Given the description of an element on the screen output the (x, y) to click on. 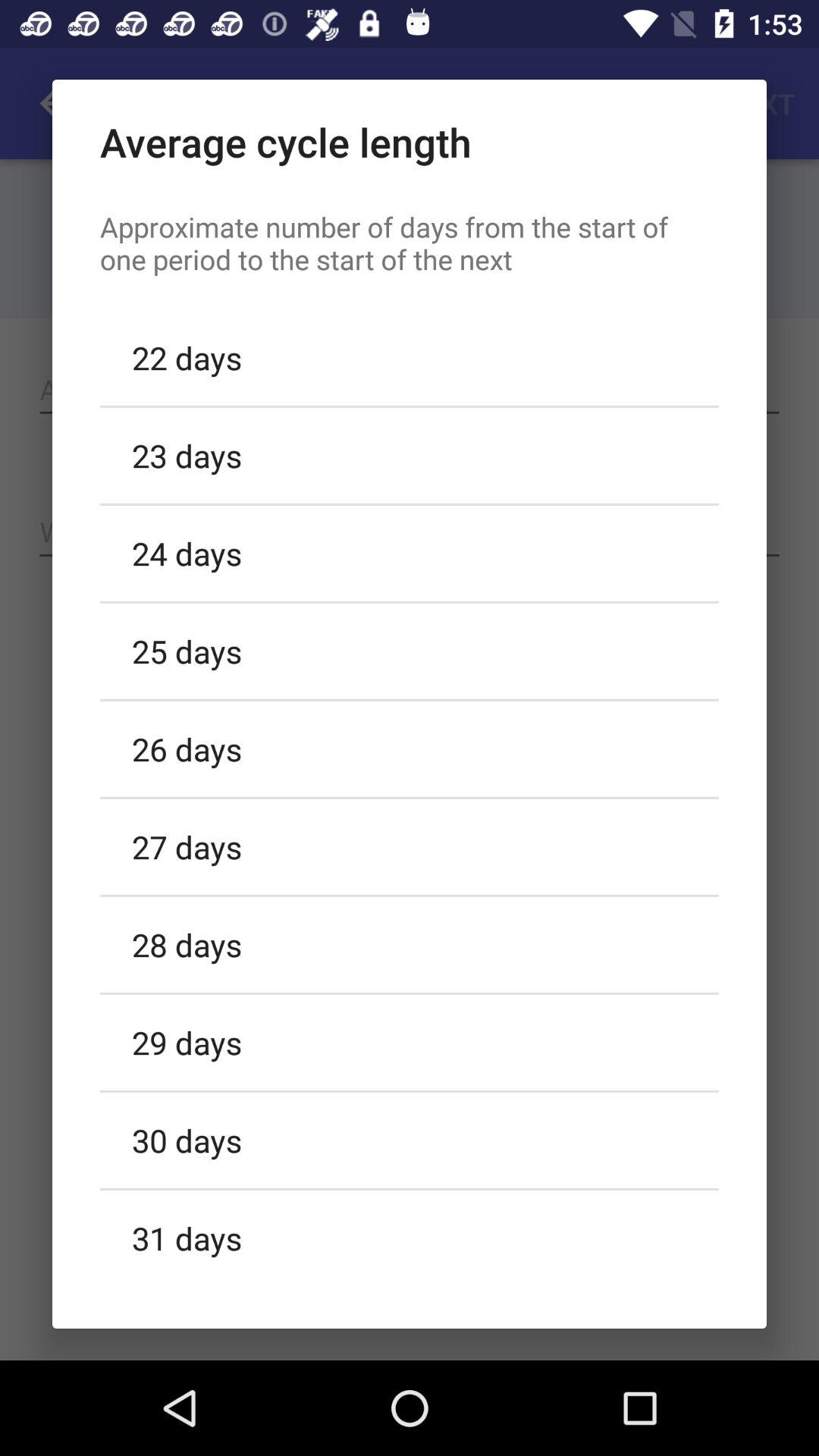
choose icon above the 26 days icon (409, 650)
